Given the description of an element on the screen output the (x, y) to click on. 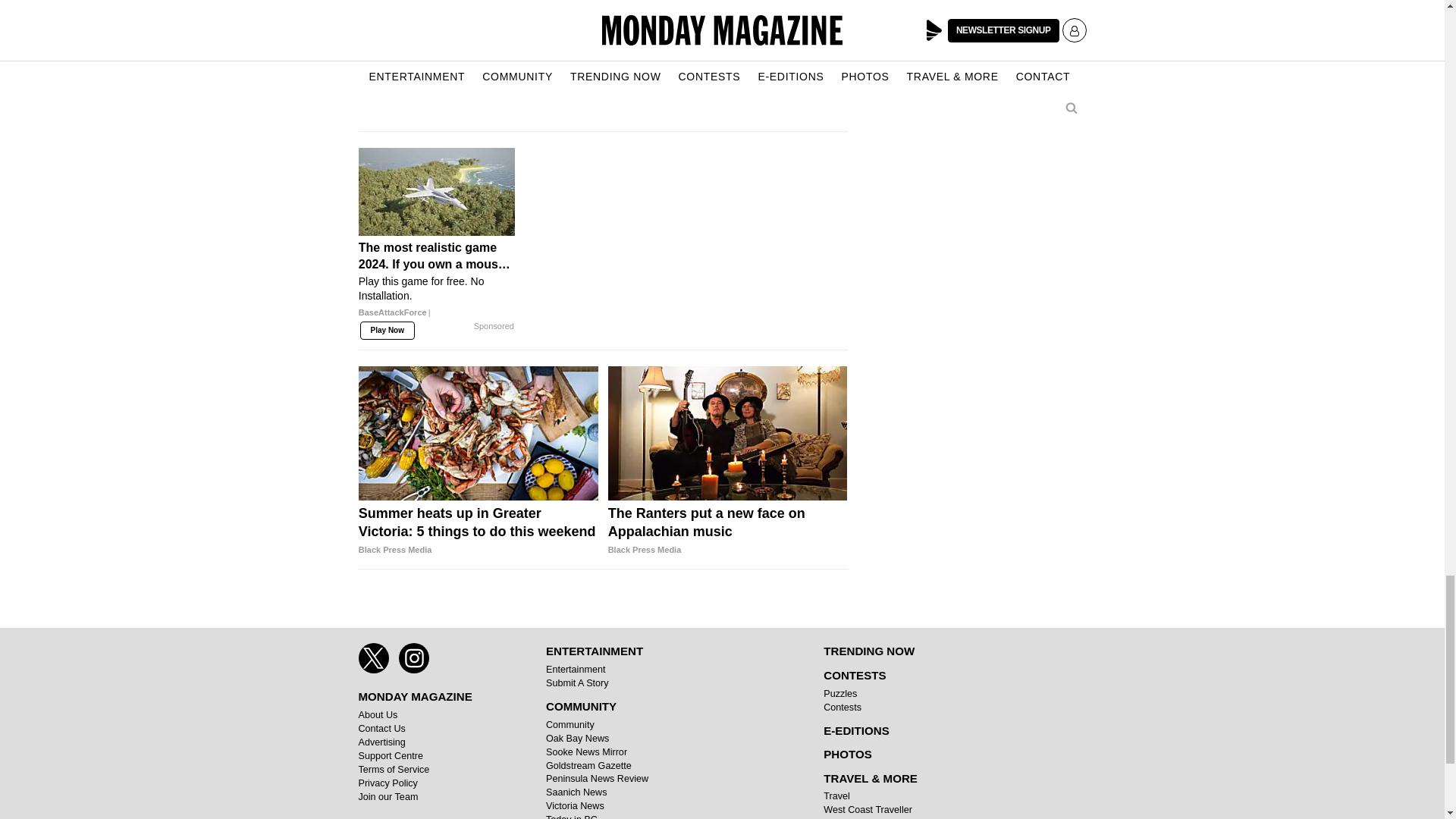
"Description: Play this game for free. No Installation." (436, 288)
